Given the description of an element on the screen output the (x, y) to click on. 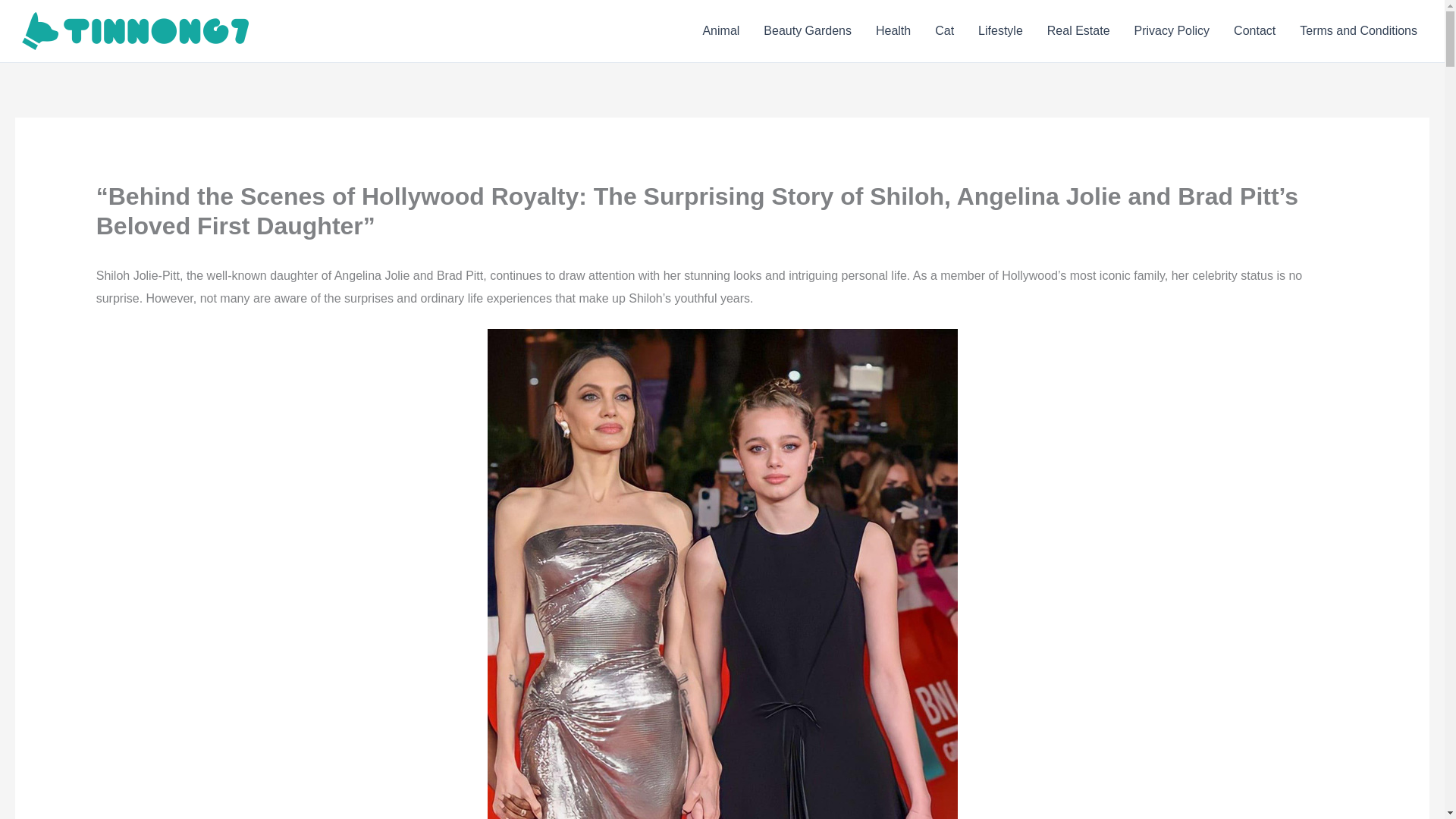
Lifestyle (1000, 30)
Beauty Gardens (807, 30)
Cat (944, 30)
Health (893, 30)
Real Estate (1078, 30)
Animal (720, 30)
Terms and Conditions (1358, 30)
Contact (1254, 30)
Privacy Policy (1172, 30)
